Given the description of an element on the screen output the (x, y) to click on. 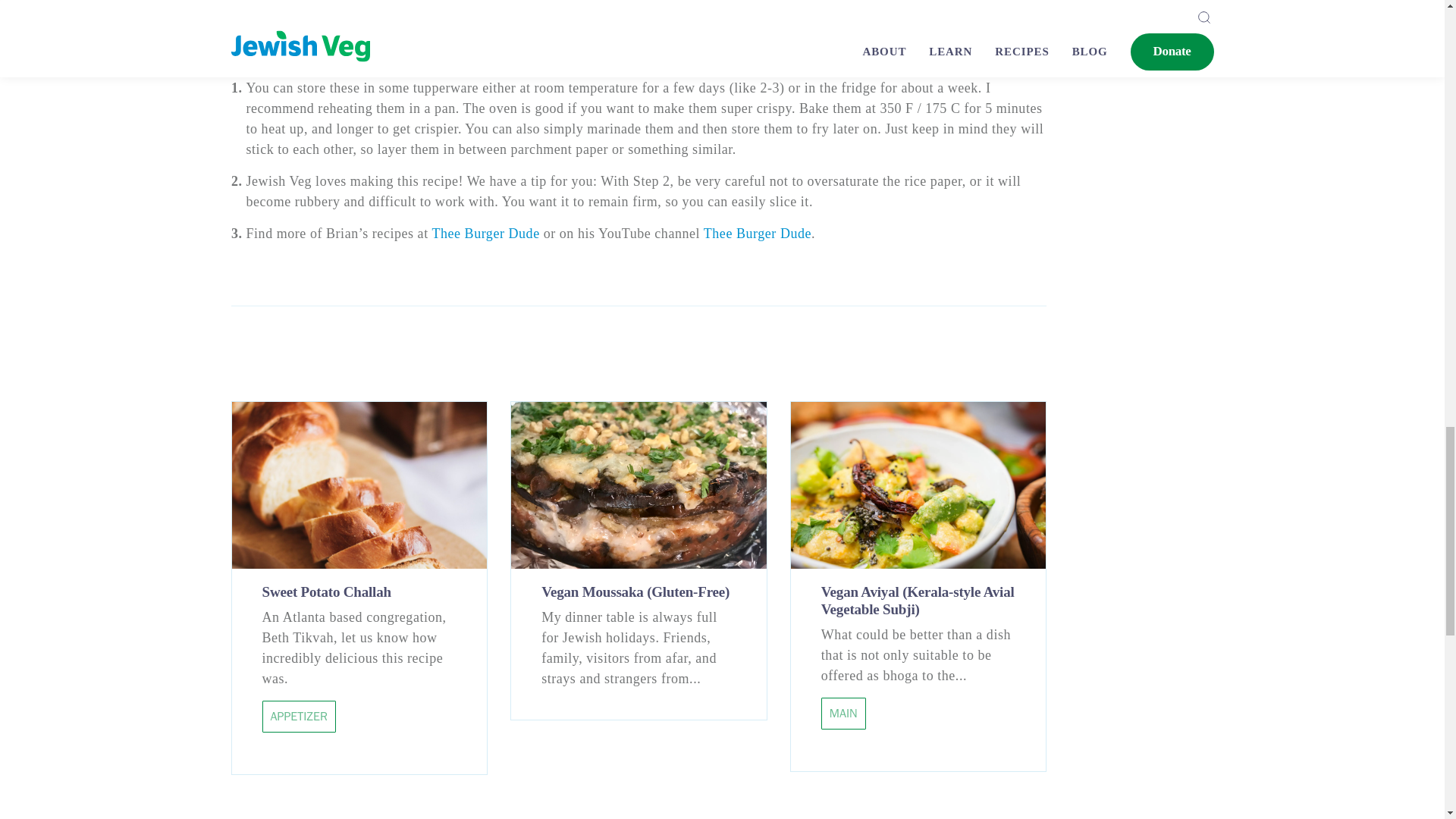
Thee Burger Dude (756, 233)
Thee Burger Dude (484, 233)
